Given the description of an element on the screen output the (x, y) to click on. 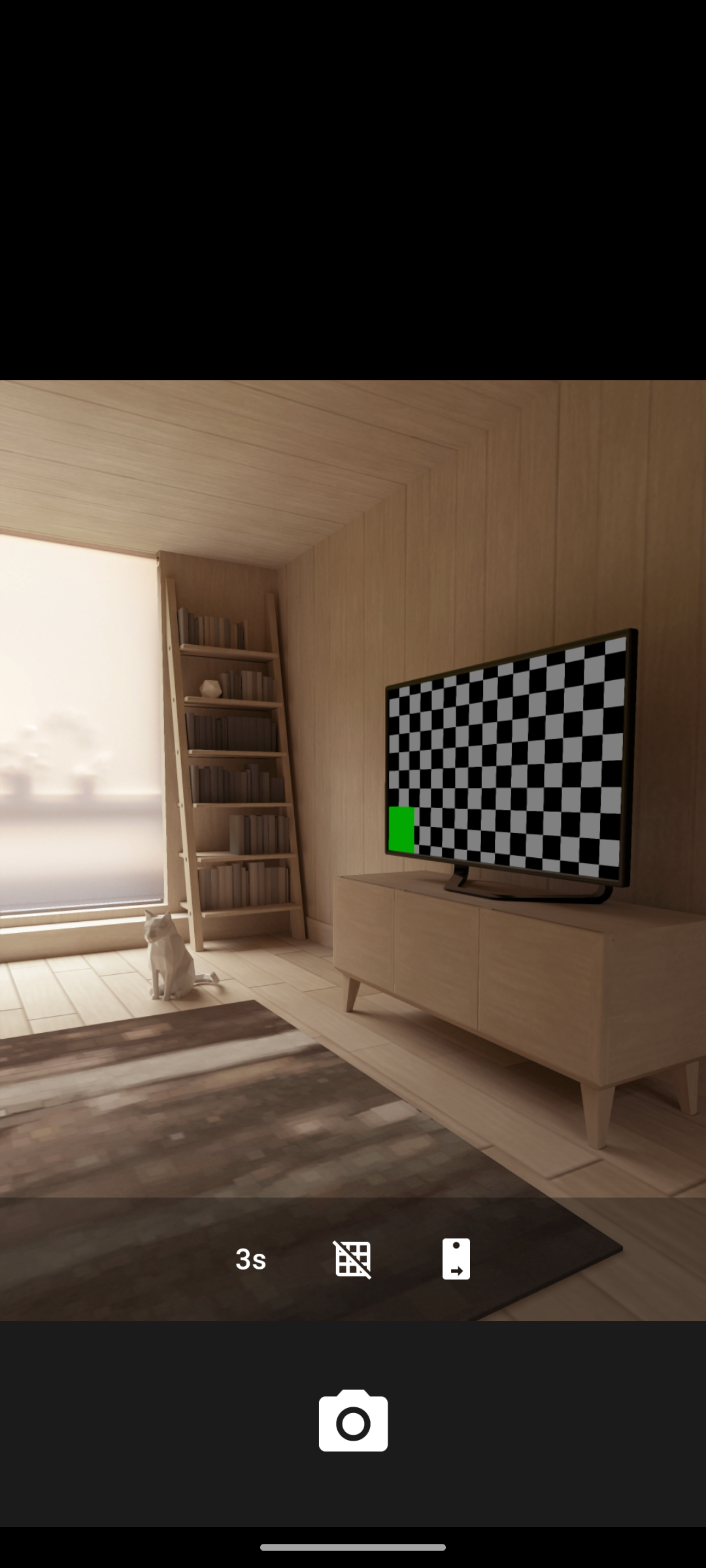
Countdown timer duration is set to 3 seconds (249, 1258)
Grid lines off (352, 1258)
Back camera (456, 1258)
Shutter (353, 1423)
